Given the description of an element on the screen output the (x, y) to click on. 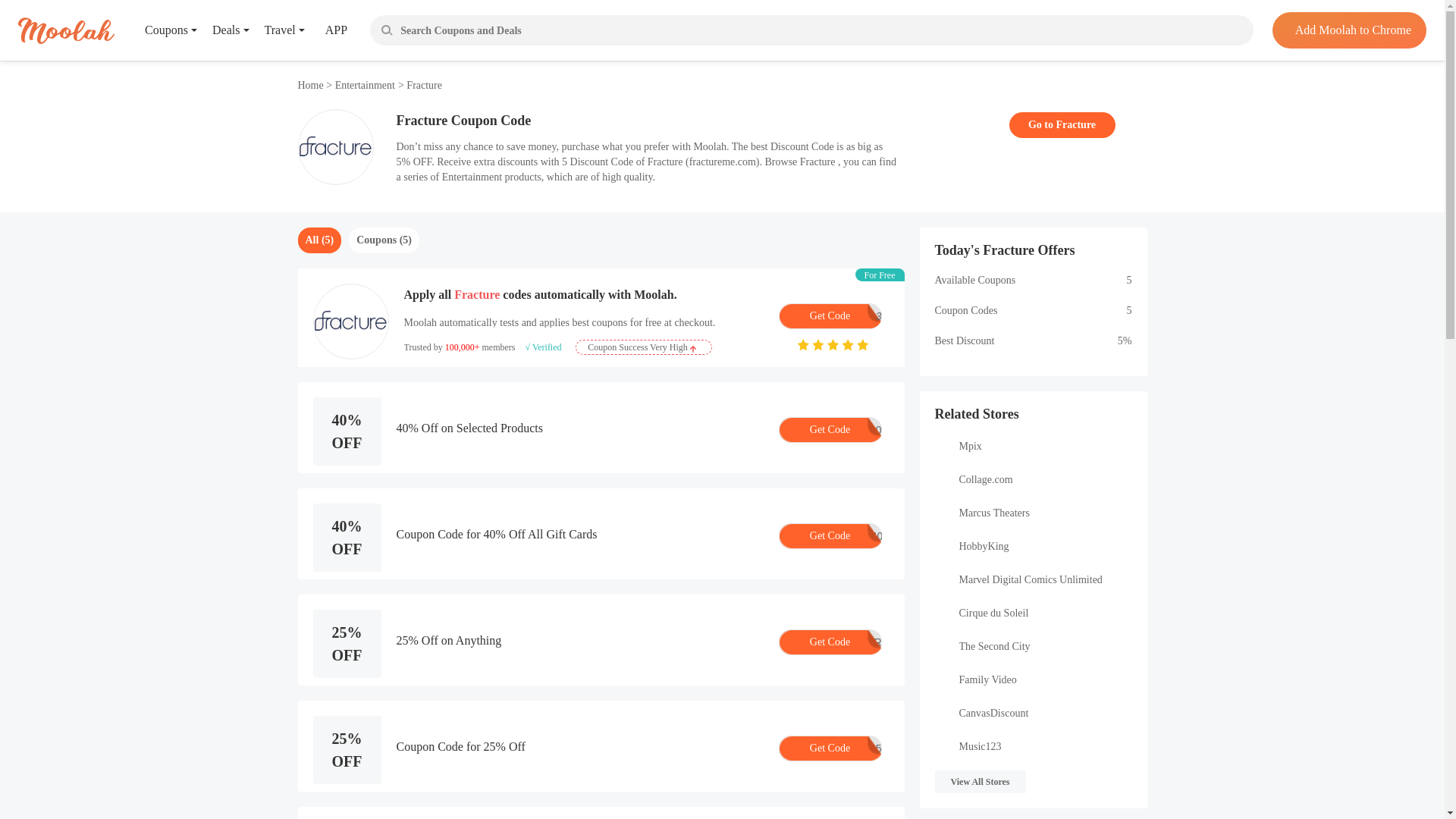
Go to Fracture (1061, 125)
APP (828, 316)
Entertainment (324, 30)
Home (364, 84)
Add Moolah to Chrome (311, 84)
